Given the description of an element on the screen output the (x, y) to click on. 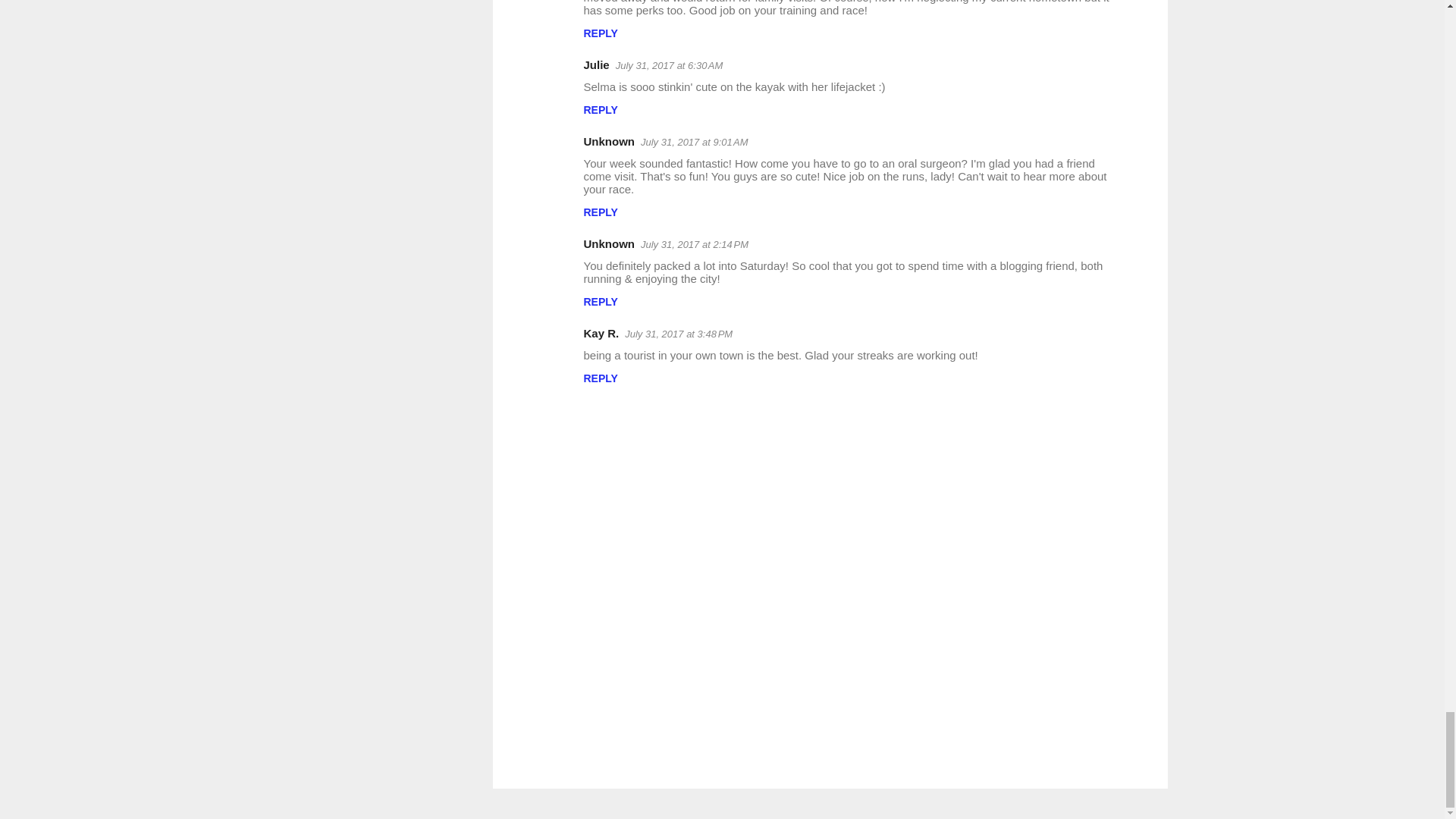
REPLY (600, 33)
REPLY (600, 110)
